Given the description of an element on the screen output the (x, y) to click on. 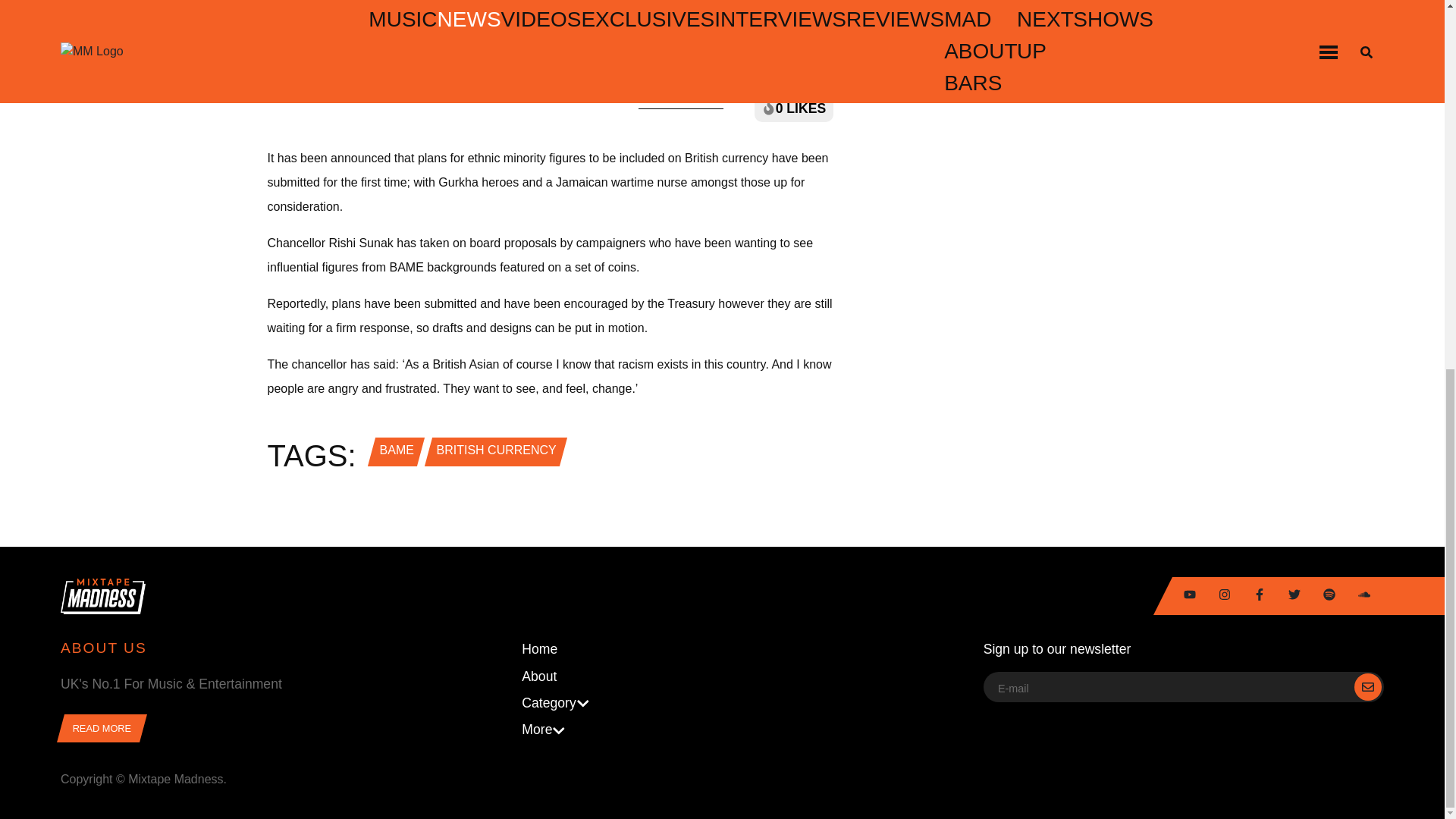
About (721, 676)
0 LIKES (793, 108)
Home (721, 649)
